Given the description of an element on the screen output the (x, y) to click on. 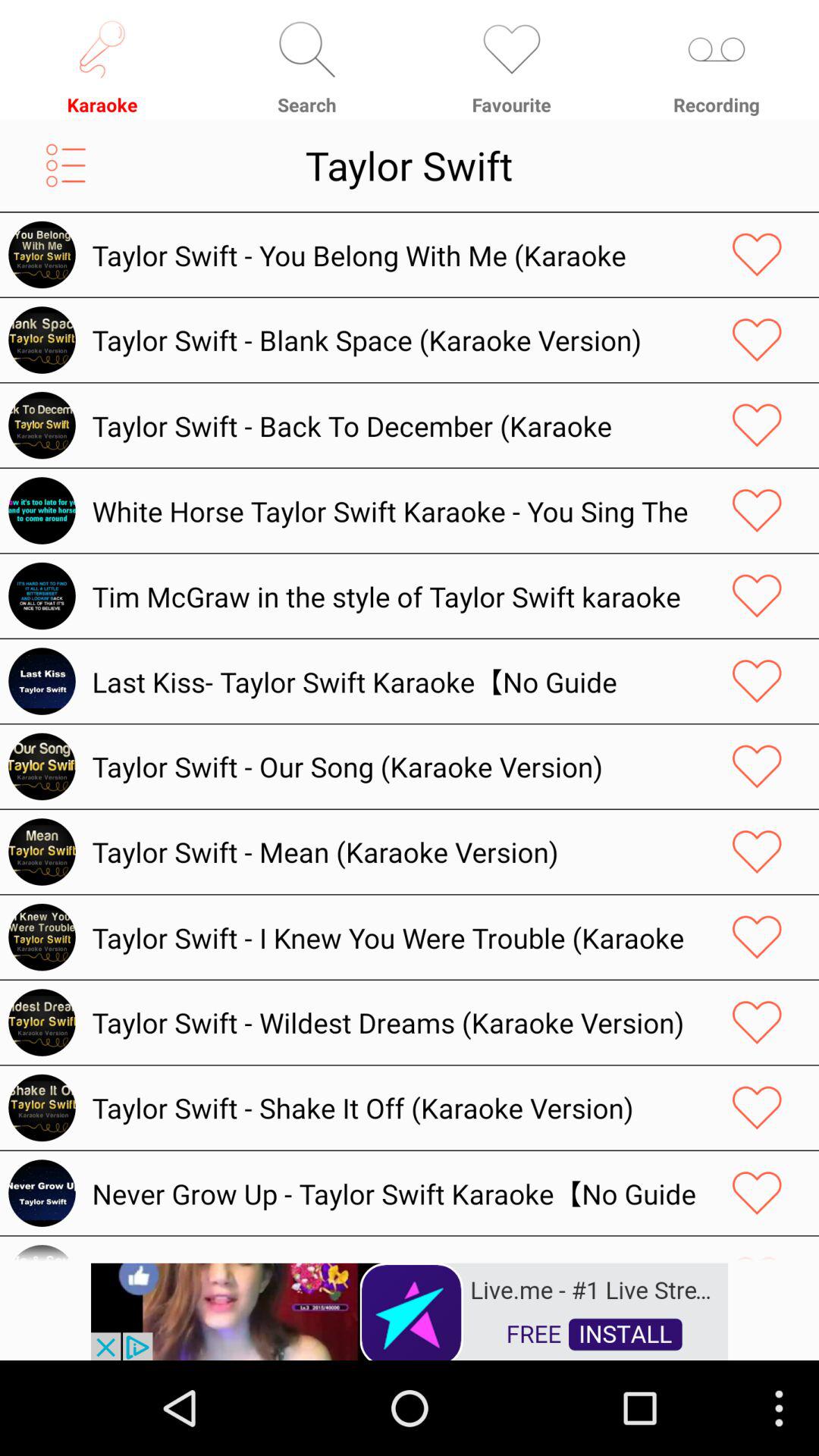
go to share (756, 766)
